Given the description of an element on the screen output the (x, y) to click on. 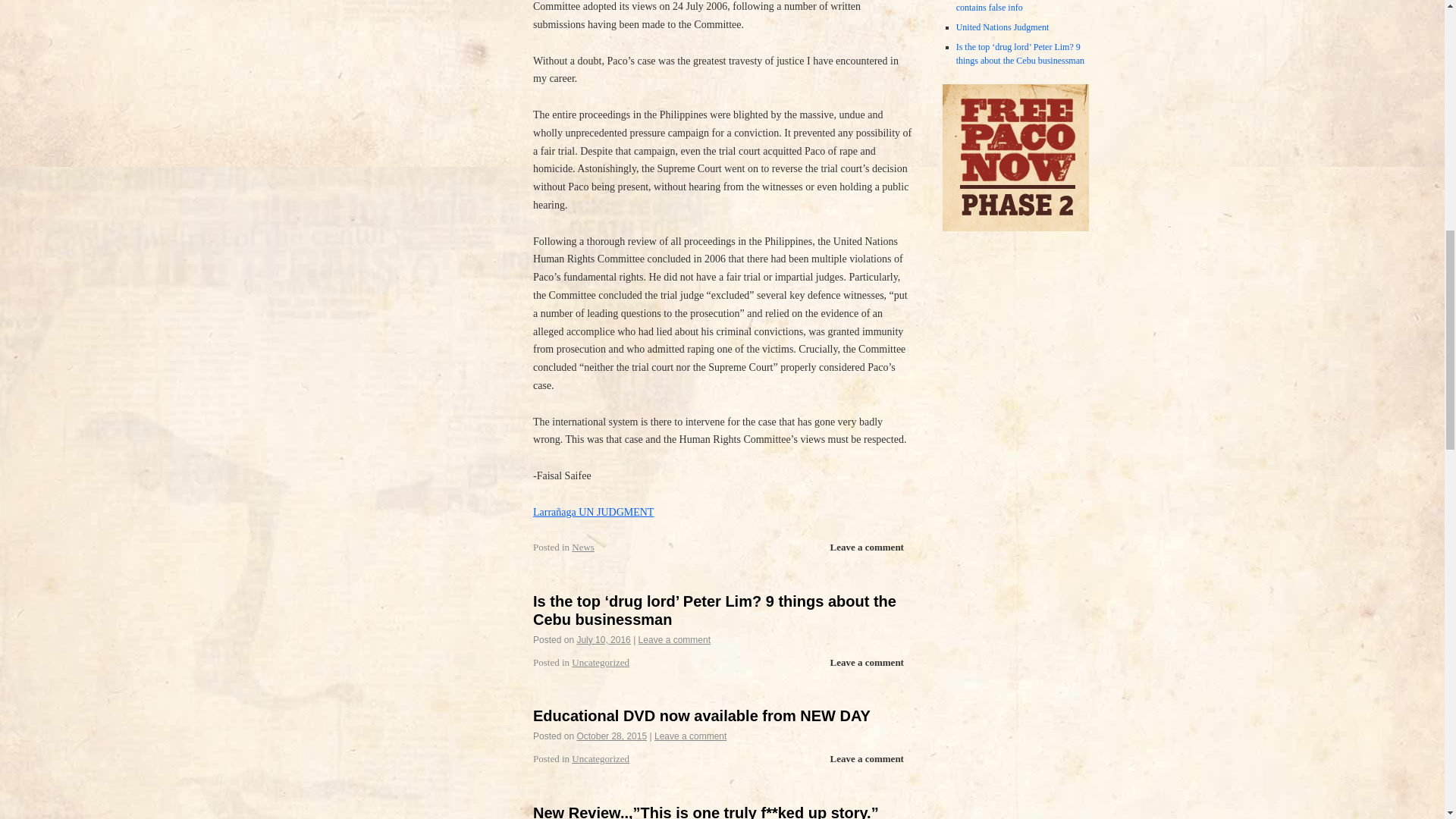
Leave a comment (866, 547)
1:22 pm (611, 736)
9:08 pm (603, 639)
July 10, 2016 (603, 639)
News (583, 546)
